Given the description of an element on the screen output the (x, y) to click on. 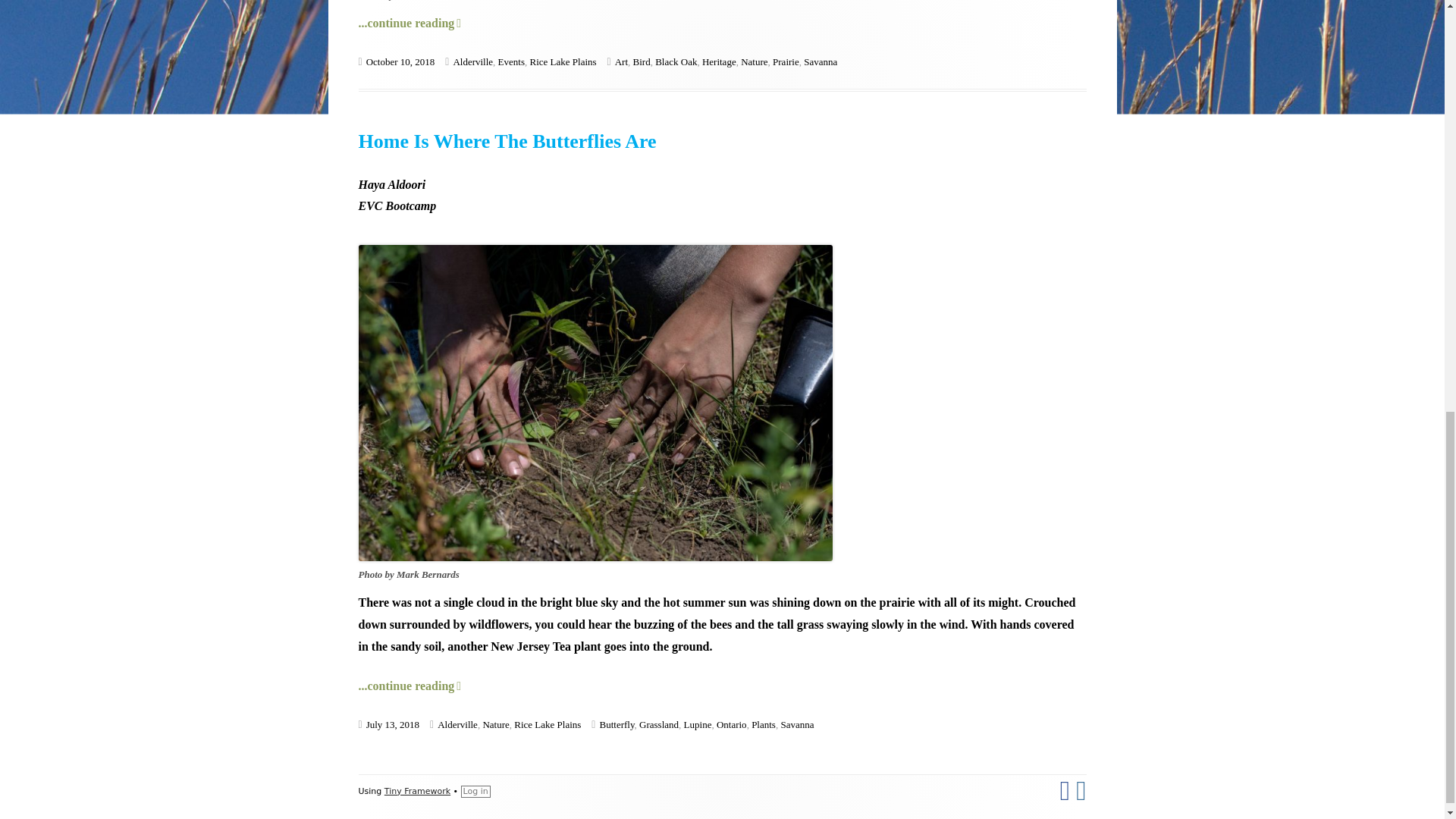
Bird (641, 61)
Savanna (820, 61)
Nature (754, 61)
Home Is Where The Butterflies Are (507, 141)
Events (409, 22)
Prairie (510, 61)
Art (786, 61)
Black Oak (620, 61)
Alderville (676, 61)
